Given the description of an element on the screen output the (x, y) to click on. 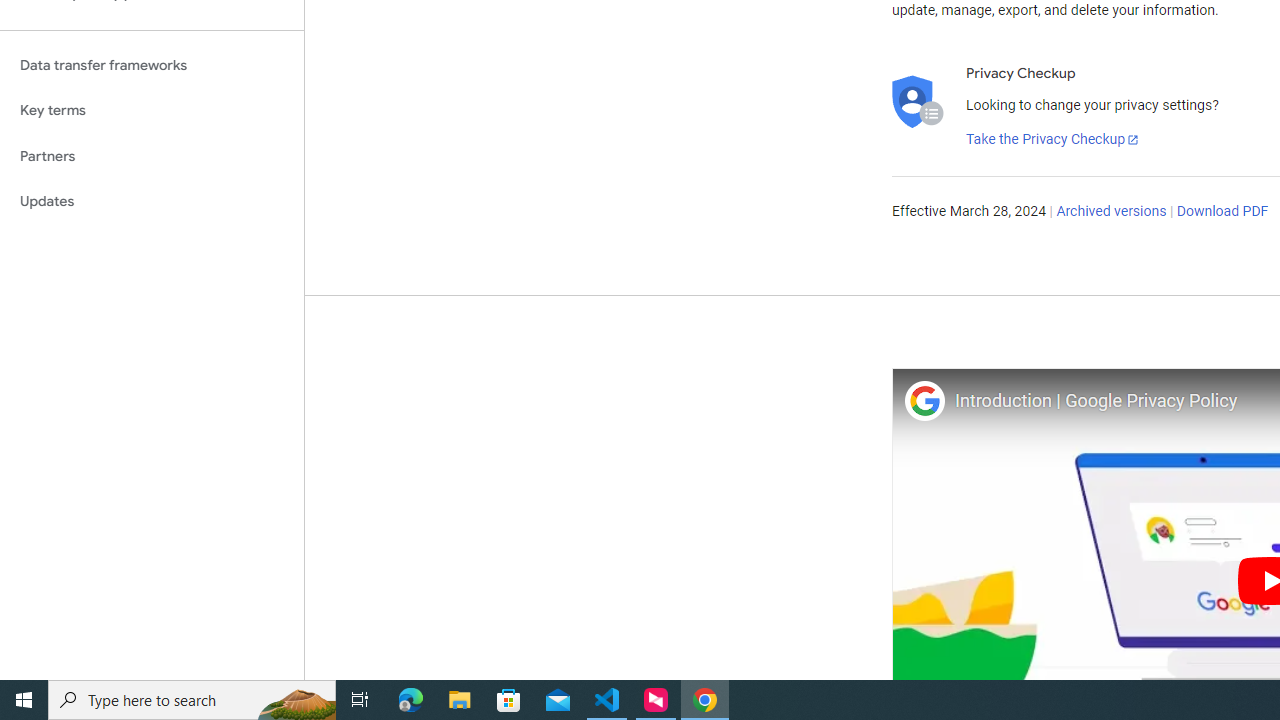
Key terms (152, 110)
Photo image of Google (924, 400)
Archived versions (1111, 212)
Partners (152, 156)
Download PDF (1222, 212)
Take the Privacy Checkup (1053, 140)
Data transfer frameworks (152, 65)
